Given the description of an element on the screen output the (x, y) to click on. 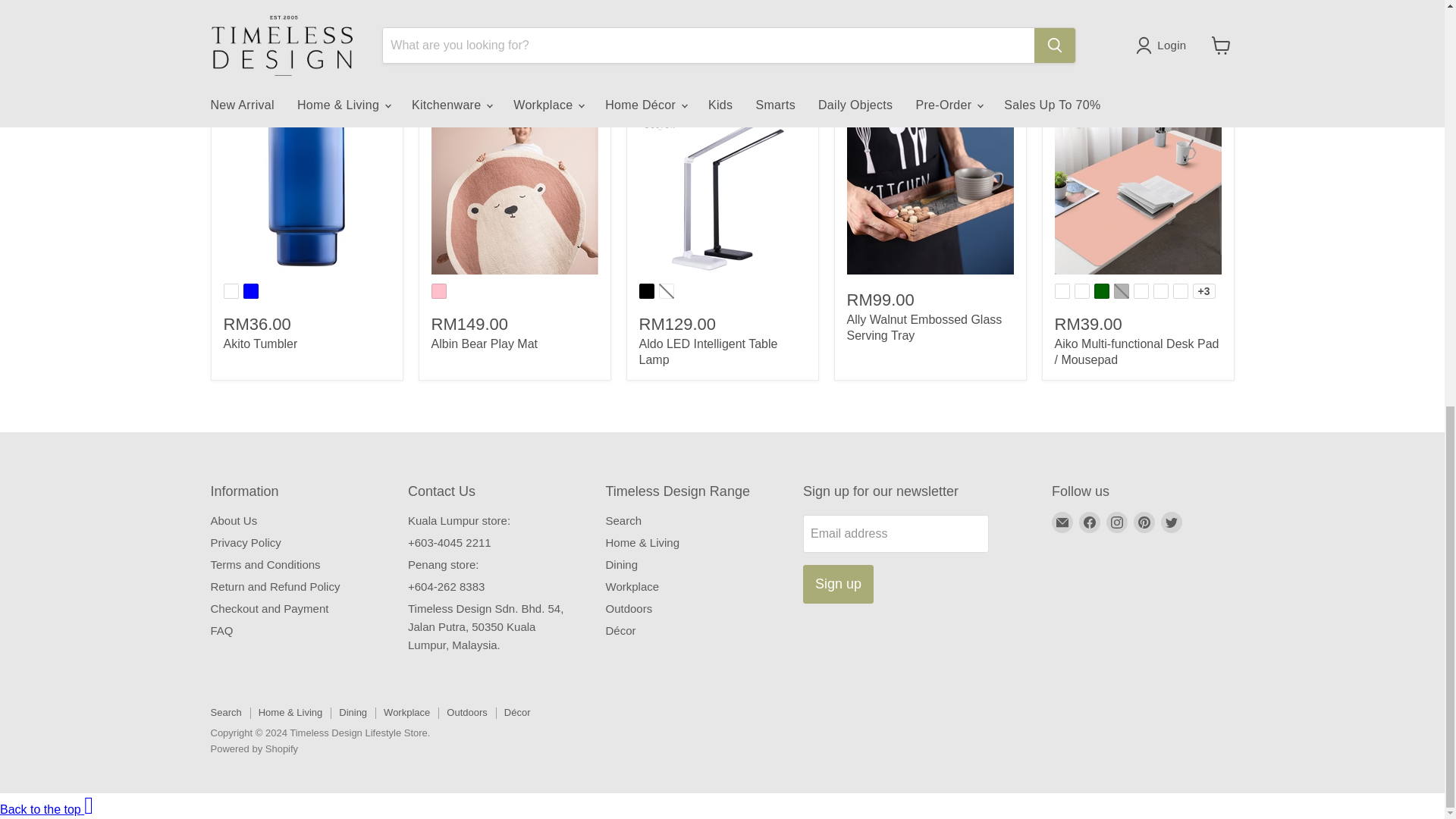
Email (1062, 522)
Instagram (1116, 522)
Facebook (1089, 522)
Pinterest (1144, 522)
Back to the top (46, 809)
Twitter (1171, 522)
